Given the description of an element on the screen output the (x, y) to click on. 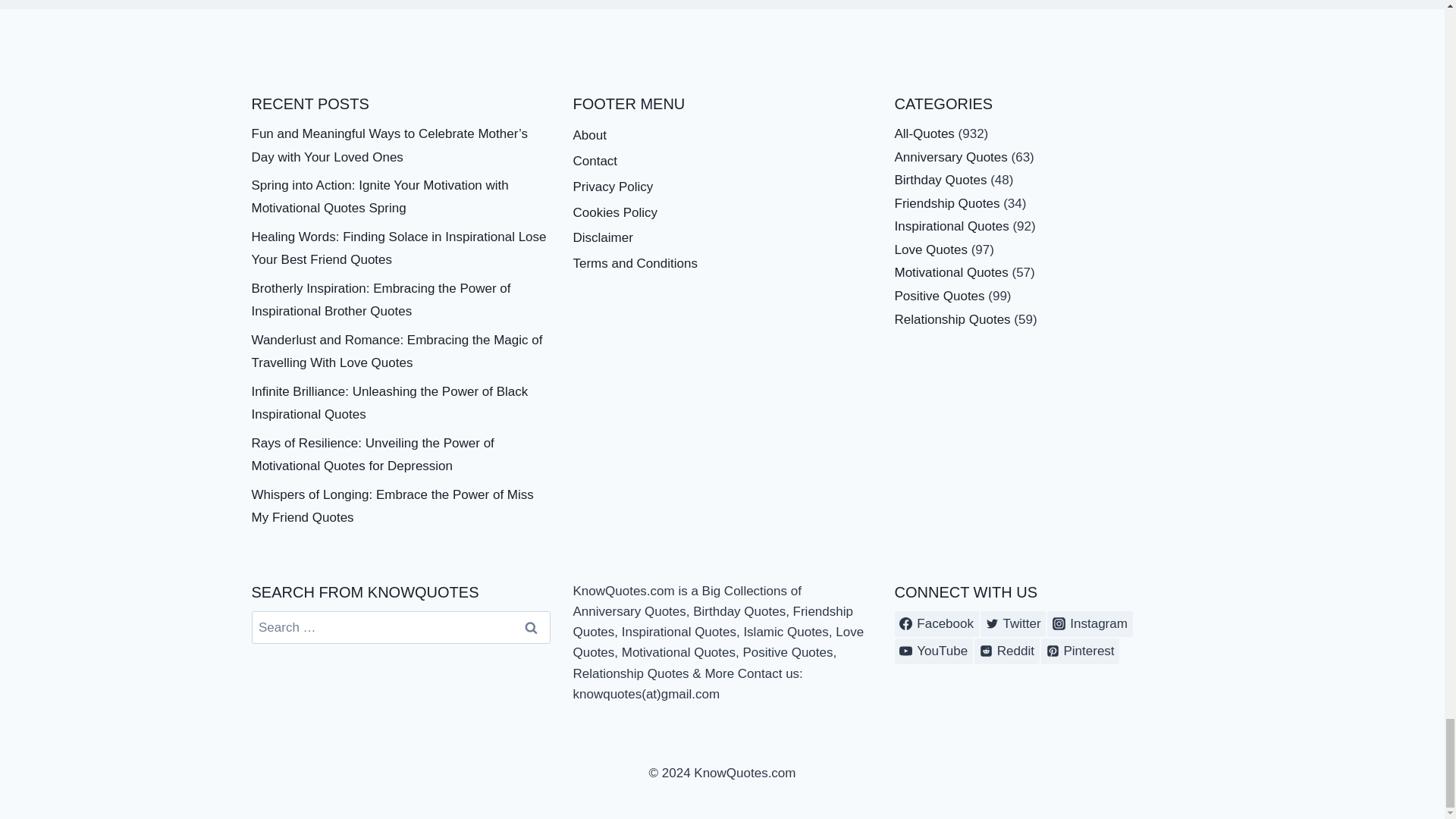
Search (531, 626)
Search (531, 626)
